Given the description of an element on the screen output the (x, y) to click on. 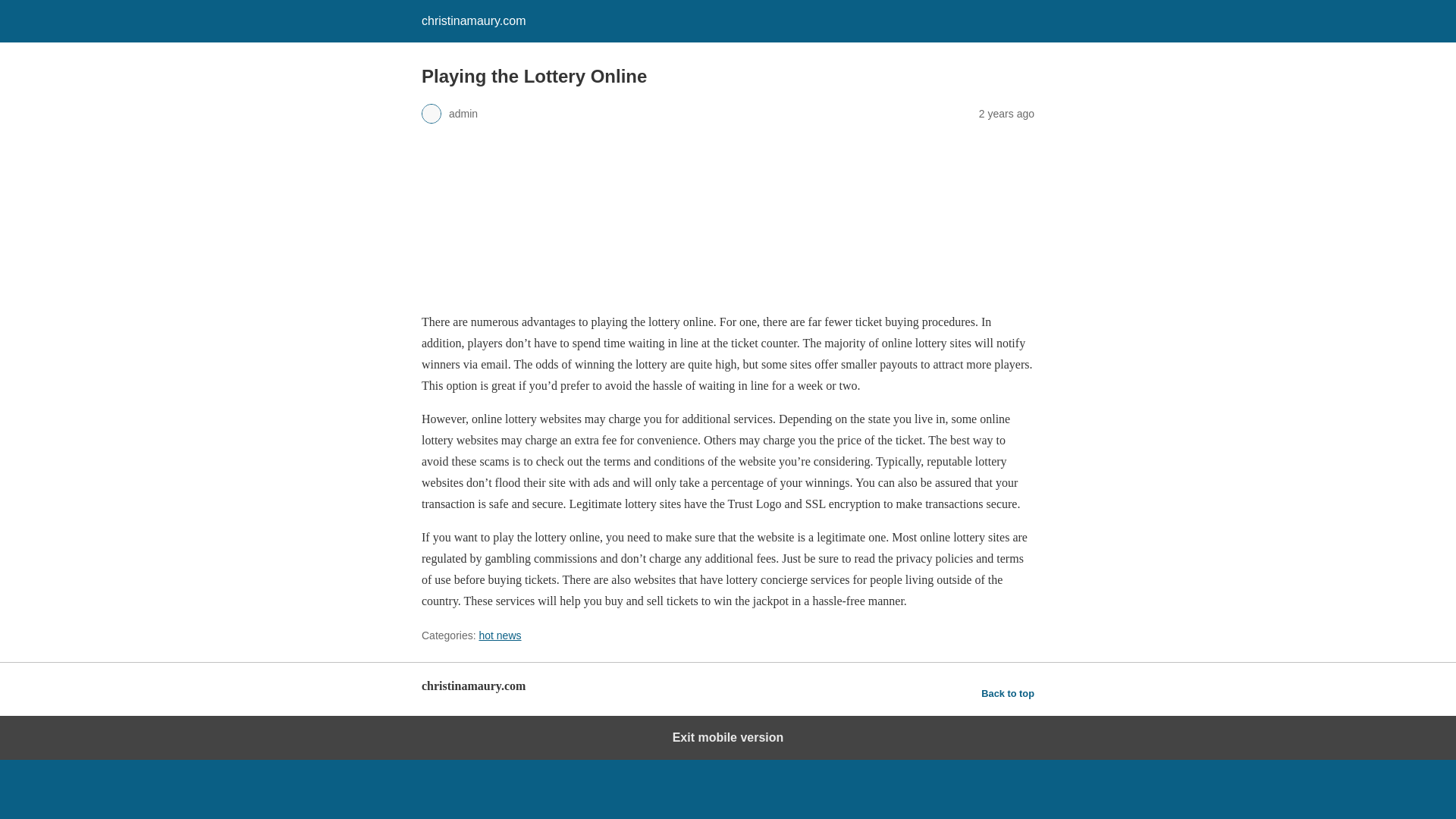
hot news (500, 635)
christinamaury.com (473, 20)
Back to top (1007, 693)
